Given the description of an element on the screen output the (x, y) to click on. 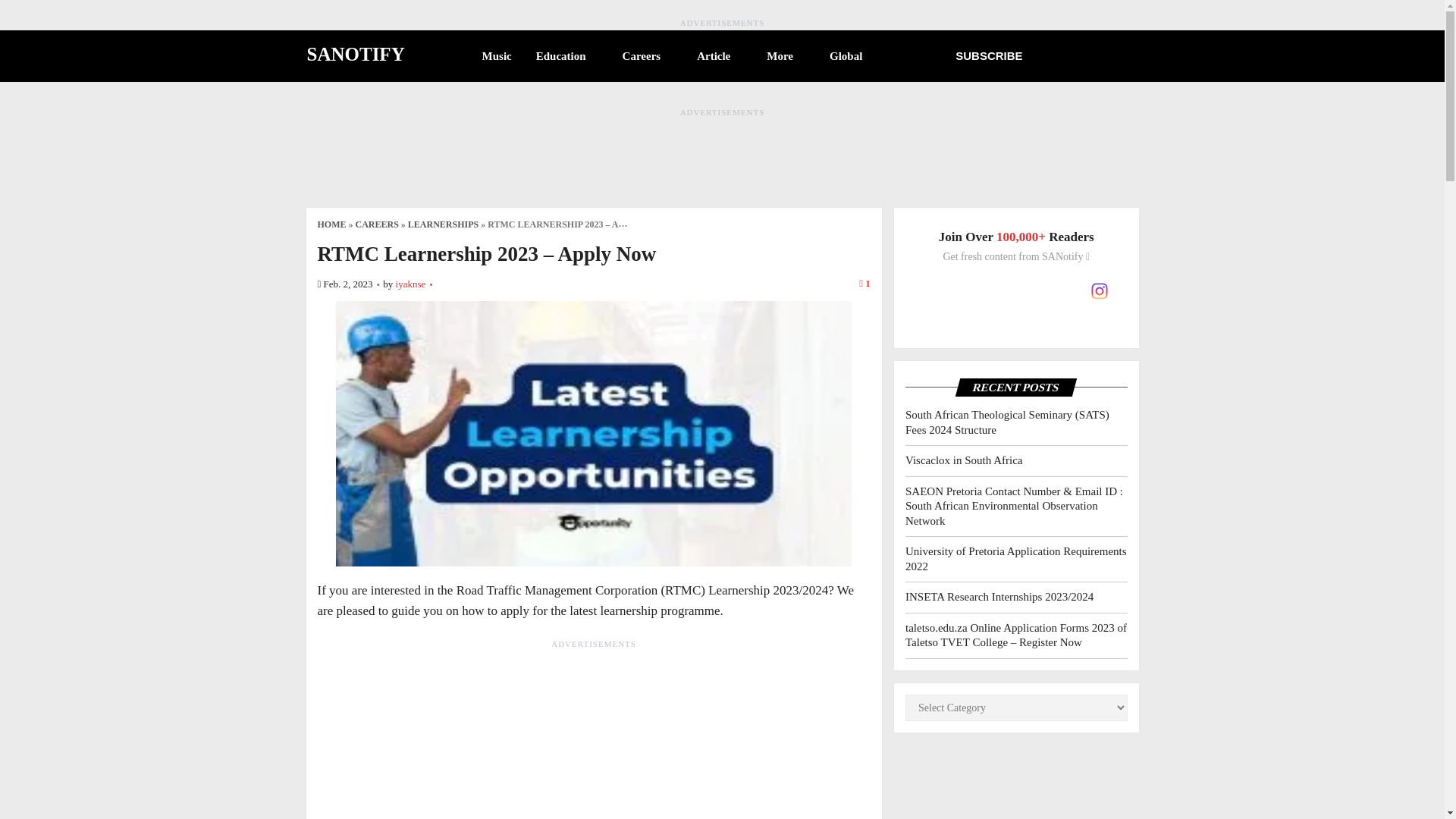
Music (497, 55)
SANotify (354, 53)
More (785, 55)
Article (719, 55)
HOME (331, 224)
Posts by iyaknse (411, 283)
Advertisement (593, 735)
Education (567, 55)
Careers (647, 55)
Advertisement (721, 153)
SUBSCRIBE (988, 55)
Global (851, 55)
SANOTIFY (354, 53)
